Given the description of an element on the screen output the (x, y) to click on. 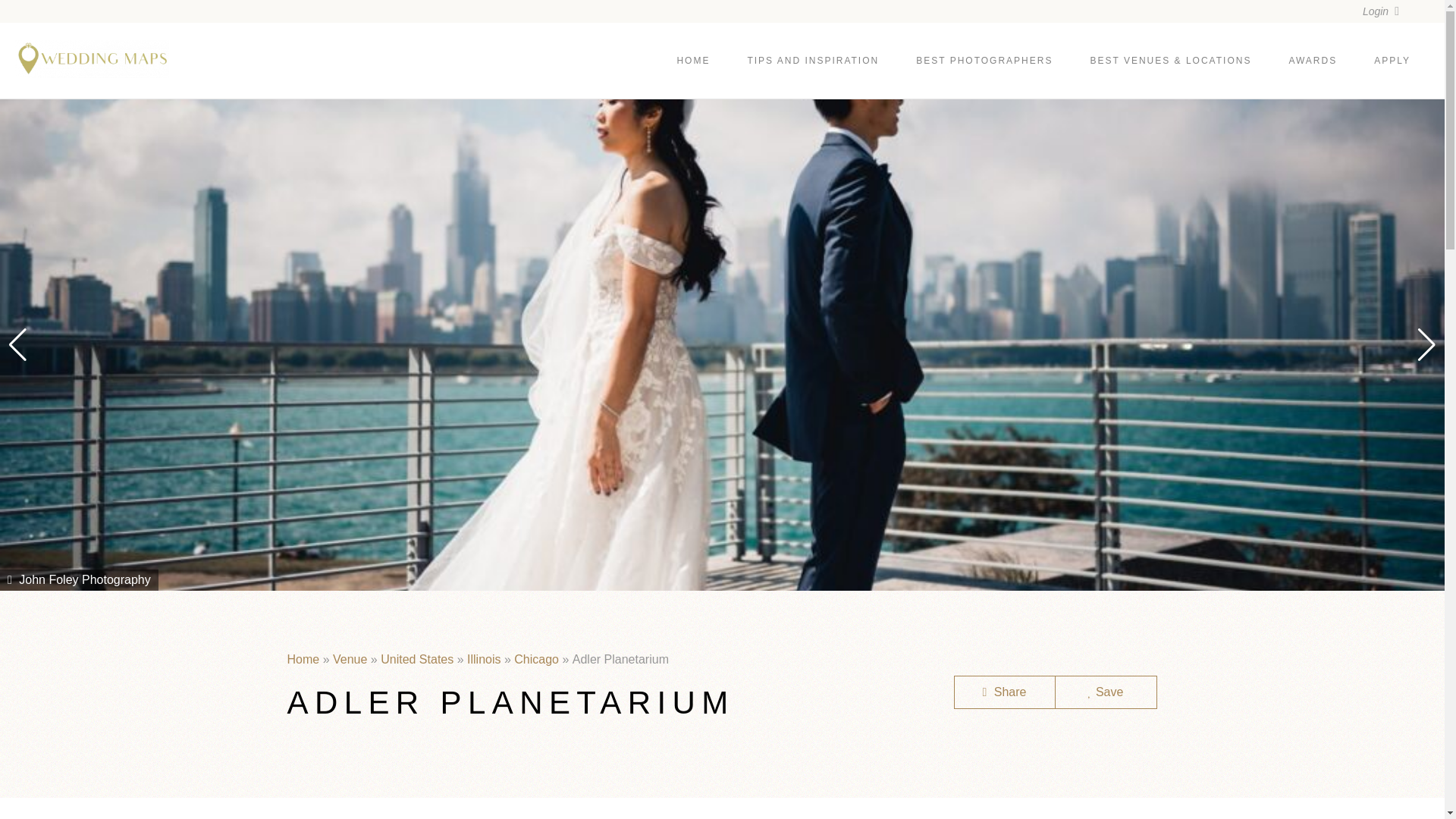
AWARDS (1312, 60)
Go to the Chicago  Location archives. (536, 658)
BEST PHOTOGRAPHERS (983, 60)
Go to Venue. (349, 658)
Go to the United States  Location archives. (416, 658)
HOME (693, 60)
Go to Wedding Maps. (302, 658)
Wedding Maps horizontal x (91, 58)
Go to the Illinois  Location archives. (483, 658)
TIPS AND INSPIRATION (812, 60)
